Given the description of an element on the screen output the (x, y) to click on. 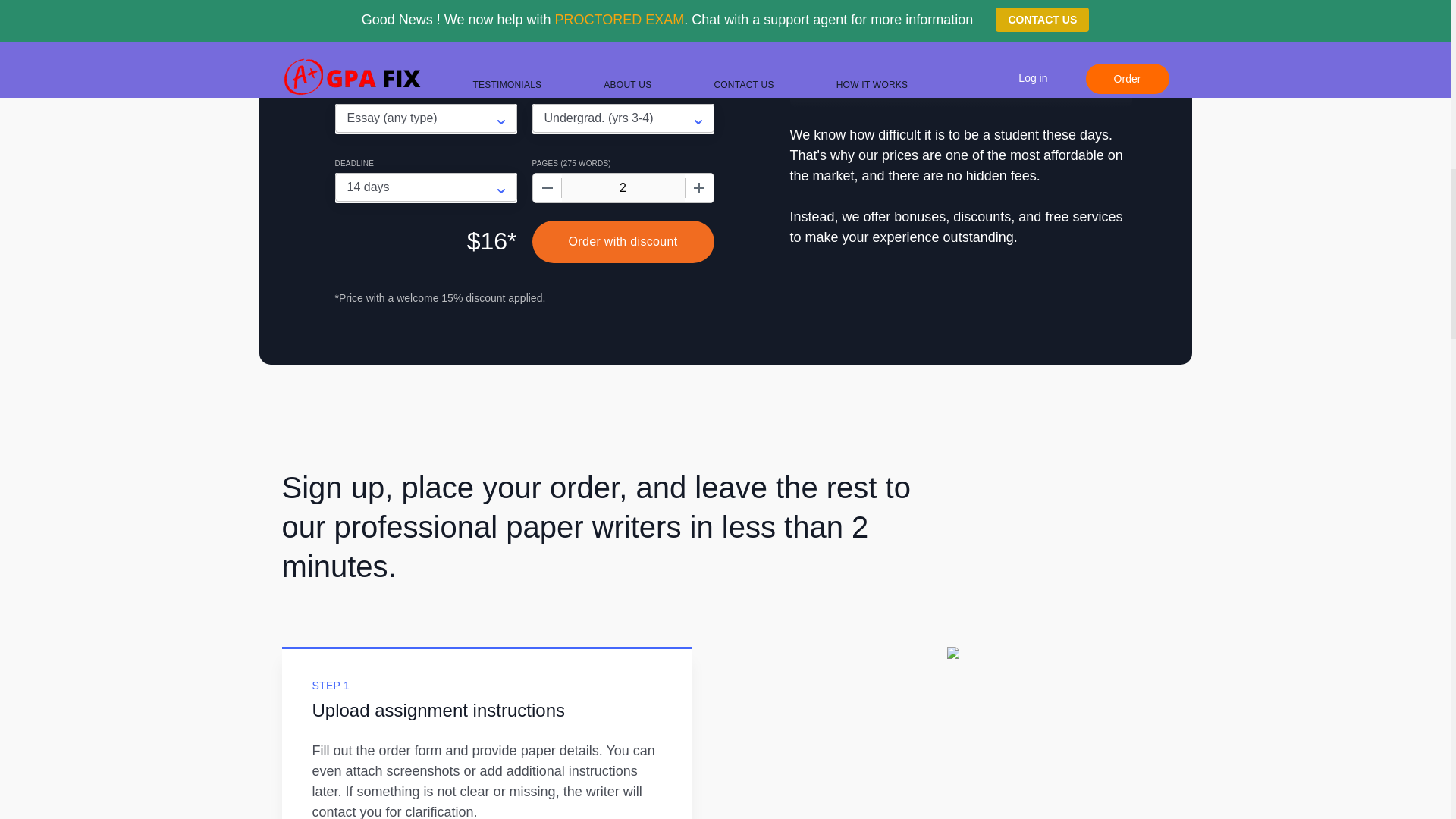
Decrease (546, 186)
2 (622, 186)
Increase (698, 186)
Order with discount (623, 241)
